Given the description of an element on the screen output the (x, y) to click on. 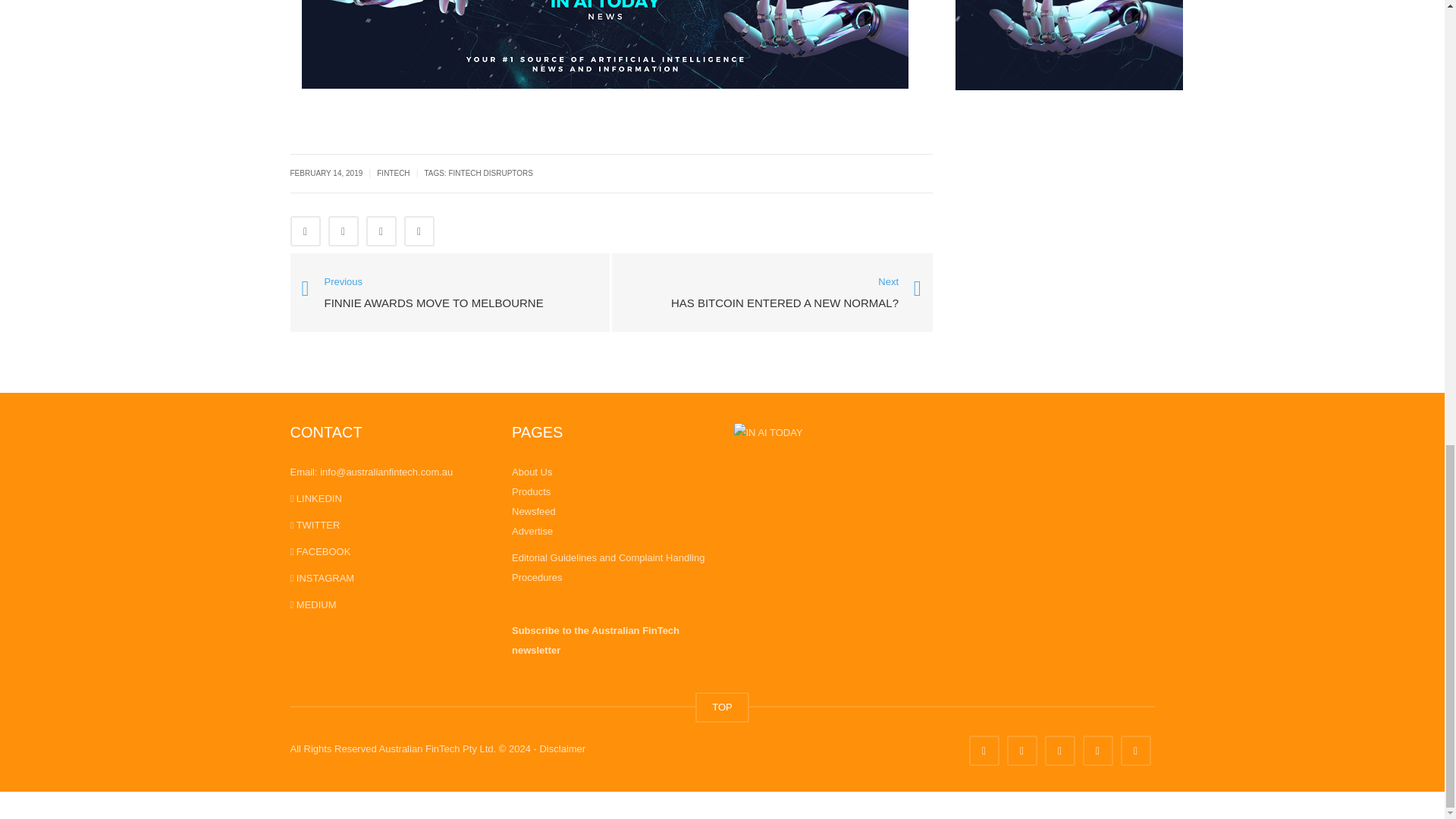
FINTECH (393, 172)
Has Bitcoin entered a new normal? (784, 293)
Share on Facebook (304, 231)
FINTECH DISRUPTORS (490, 172)
Finnie Awards move to Melbourne (449, 291)
Share on Twitter (342, 231)
Email this (418, 231)
Share on LinkedIn (380, 231)
